Given the description of an element on the screen output the (x, y) to click on. 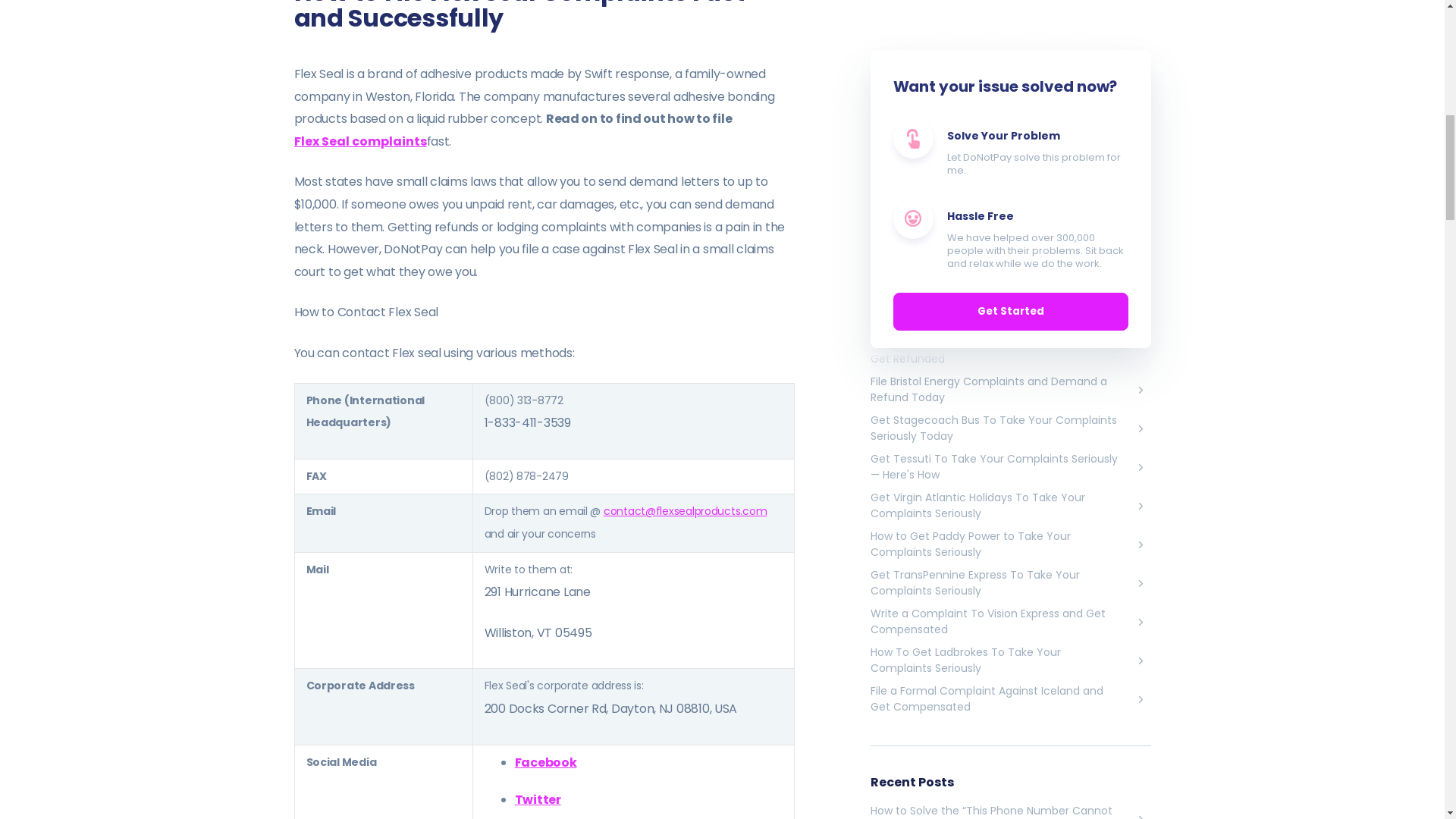
Facebook (545, 762)
Twitter (537, 799)
Flex Seal complaints (360, 140)
